Given the description of an element on the screen output the (x, y) to click on. 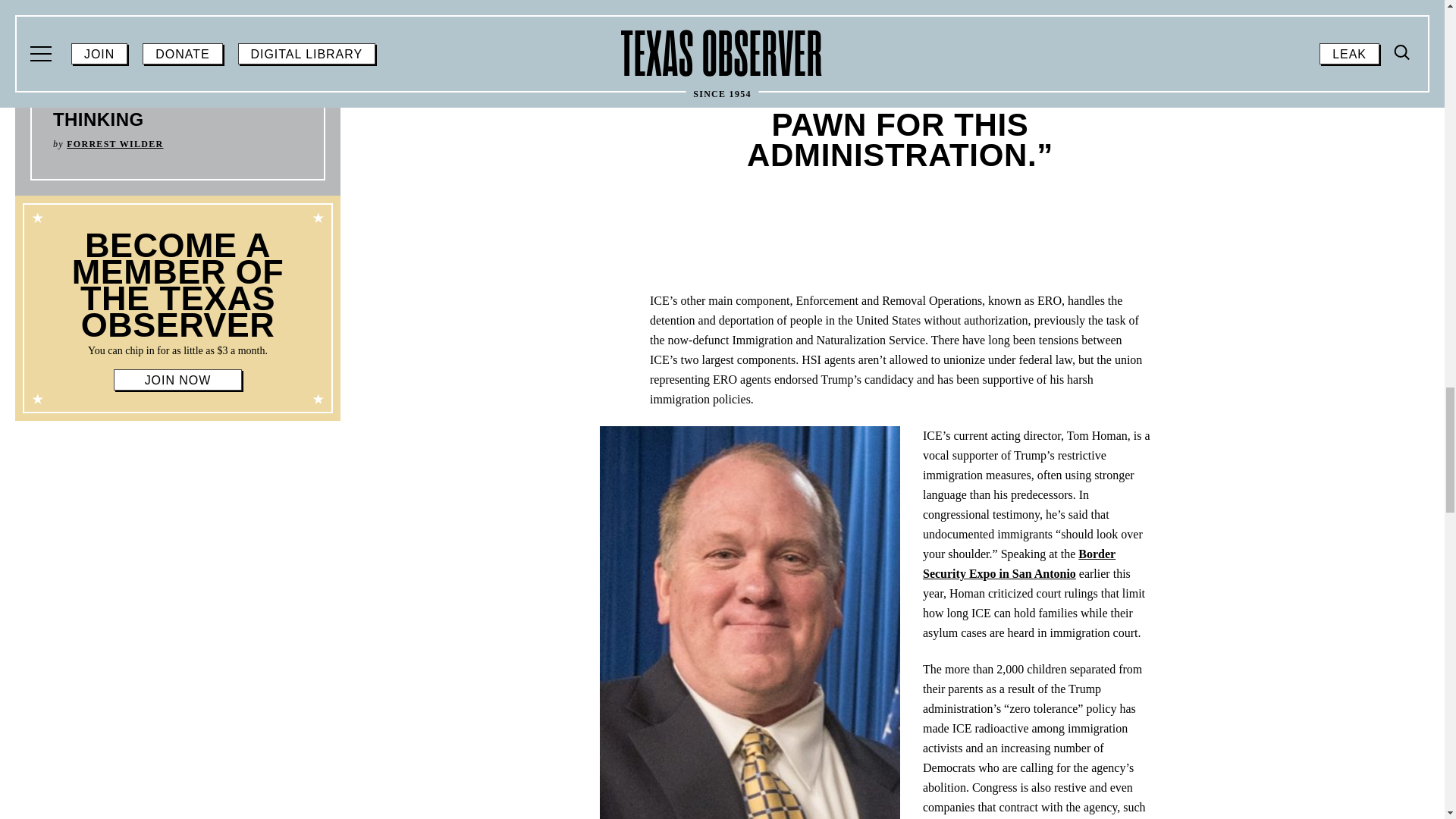
Page 8 (177, 350)
Page 8 (177, 294)
